Given the description of an element on the screen output the (x, y) to click on. 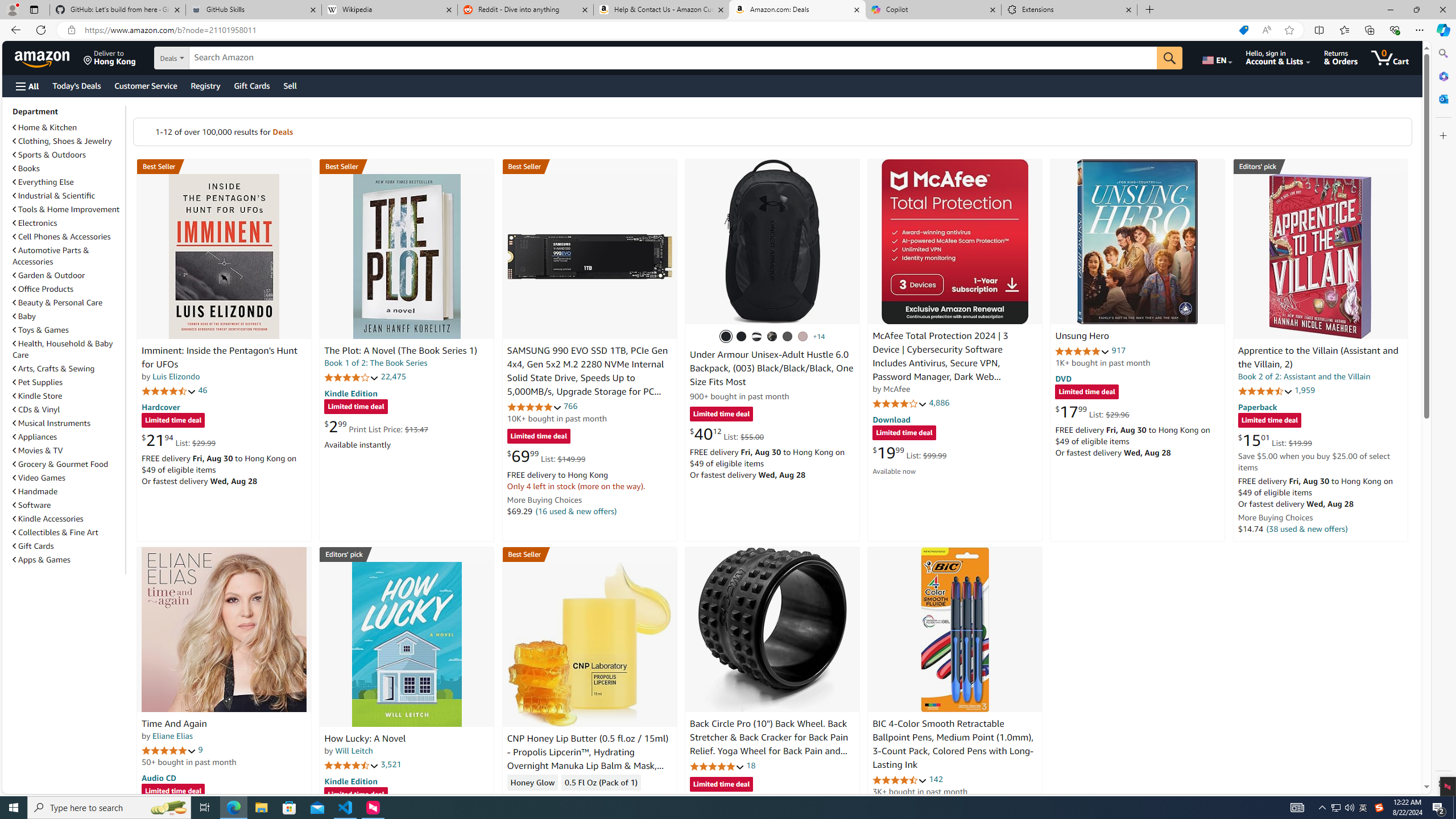
Pet Supplies (67, 382)
Arts, Crafts & Sewing (53, 368)
$17.99 List: $29.96 (1092, 411)
Video Games (39, 477)
4.7 out of 5 stars (168, 390)
Time And Again (224, 628)
Garden & Outdoor (67, 274)
Go (1169, 57)
$19.99 List: $99.99 (909, 452)
Hello, sign in Account & Lists (1278, 57)
